Given the description of an element on the screen output the (x, y) to click on. 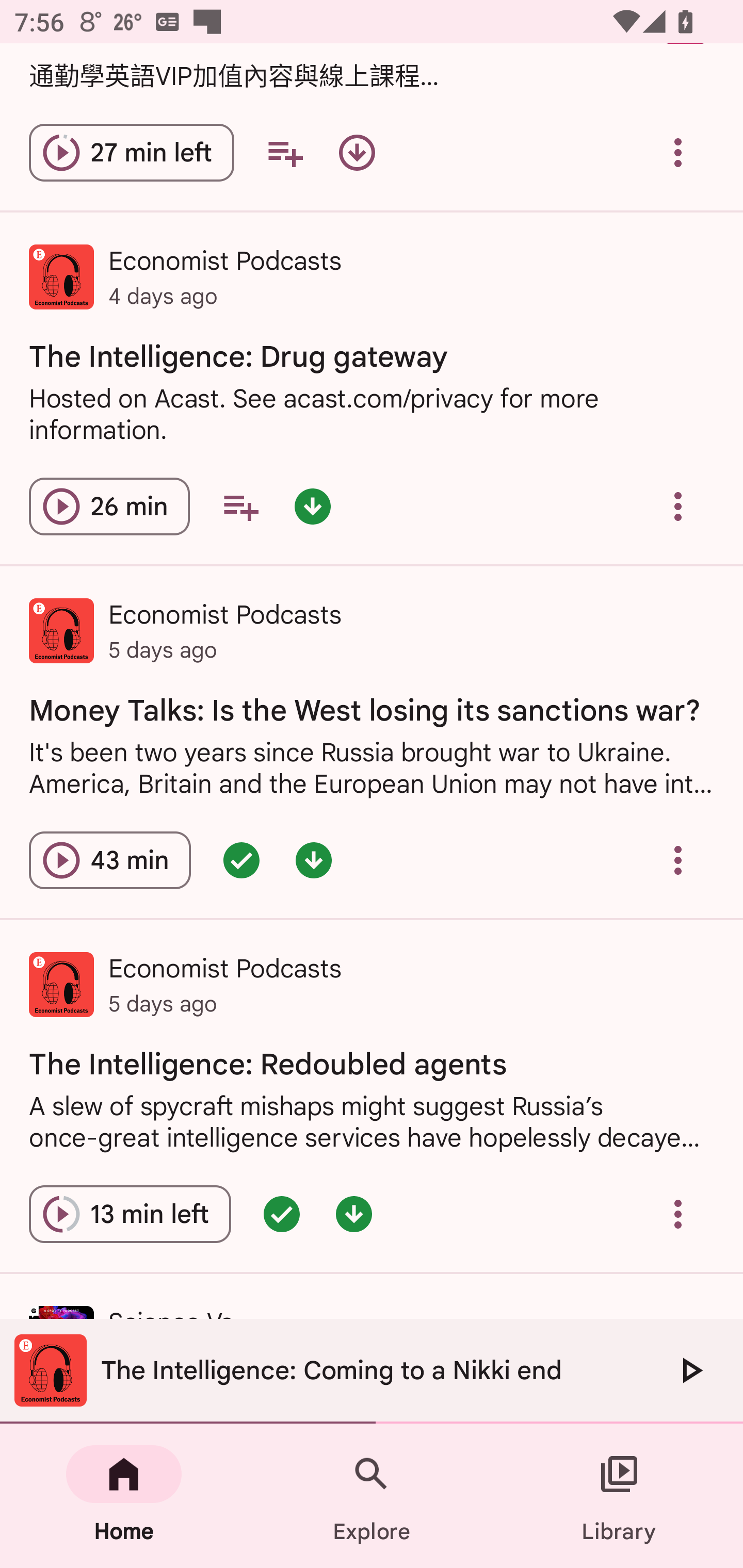
Add to your queue (284, 152)
Download episode (356, 152)
Overflow menu (677, 152)
Play episode The Intelligence: Drug gateway 26 min (109, 506)
Add to your queue (240, 506)
Episode downloaded - double tap for options (312, 506)
Overflow menu (677, 506)
Episode queued - double tap for options (241, 859)
Episode downloaded - double tap for options (313, 859)
Overflow menu (677, 859)
Episode queued - double tap for options (281, 1214)
Episode downloaded - double tap for options (354, 1214)
Overflow menu (677, 1214)
Play (690, 1370)
Explore (371, 1495)
Library (619, 1495)
